Given the description of an element on the screen output the (x, y) to click on. 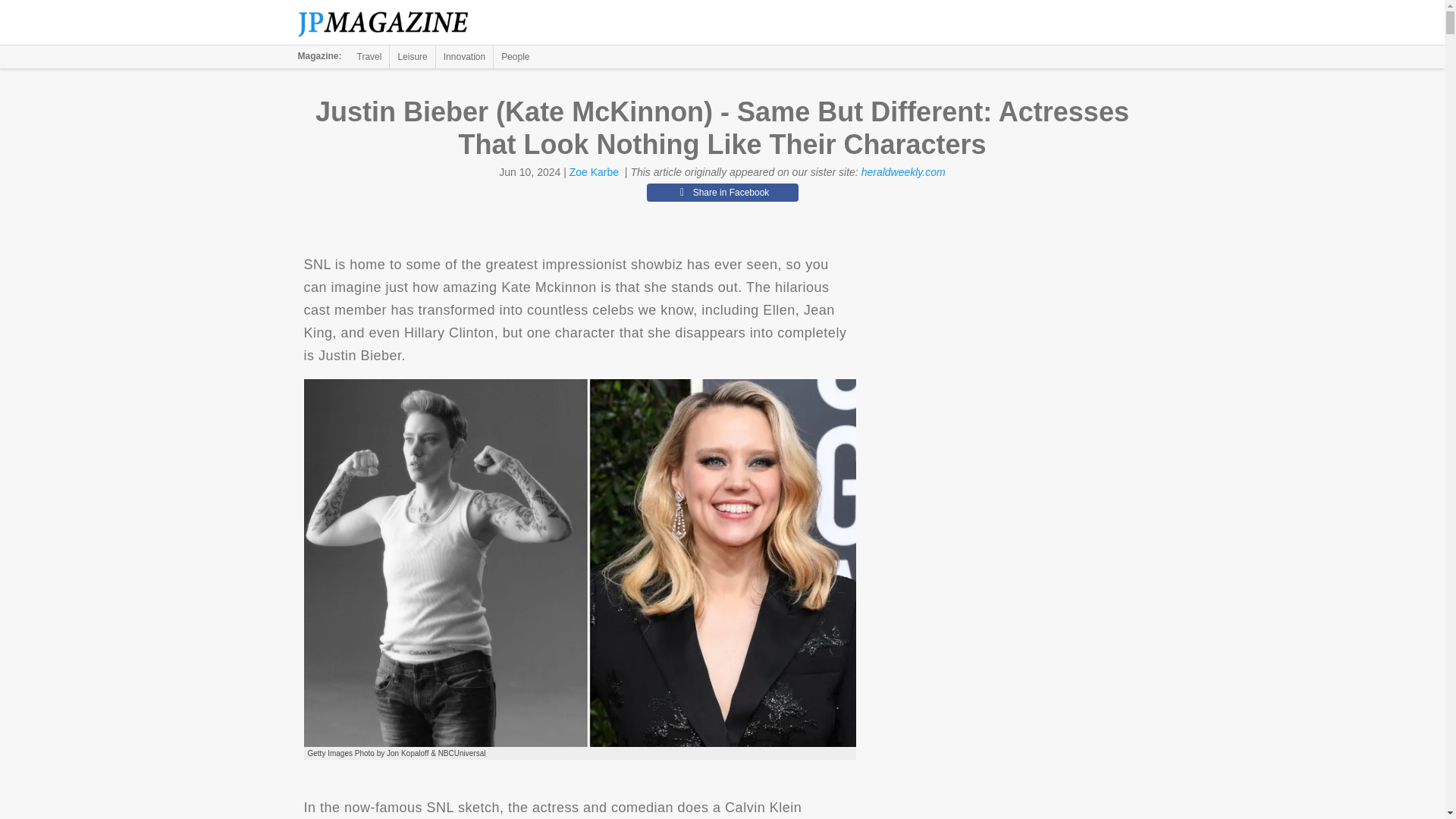
heraldweekly.com (902, 172)
Travel (369, 56)
Innovation (464, 56)
People (515, 56)
Zoe Karbe (593, 172)
The Jerusalem Post Magazine (391, 22)
Leisure (411, 56)
Share in Facebook (721, 192)
